Given the description of an element on the screen output the (x, y) to click on. 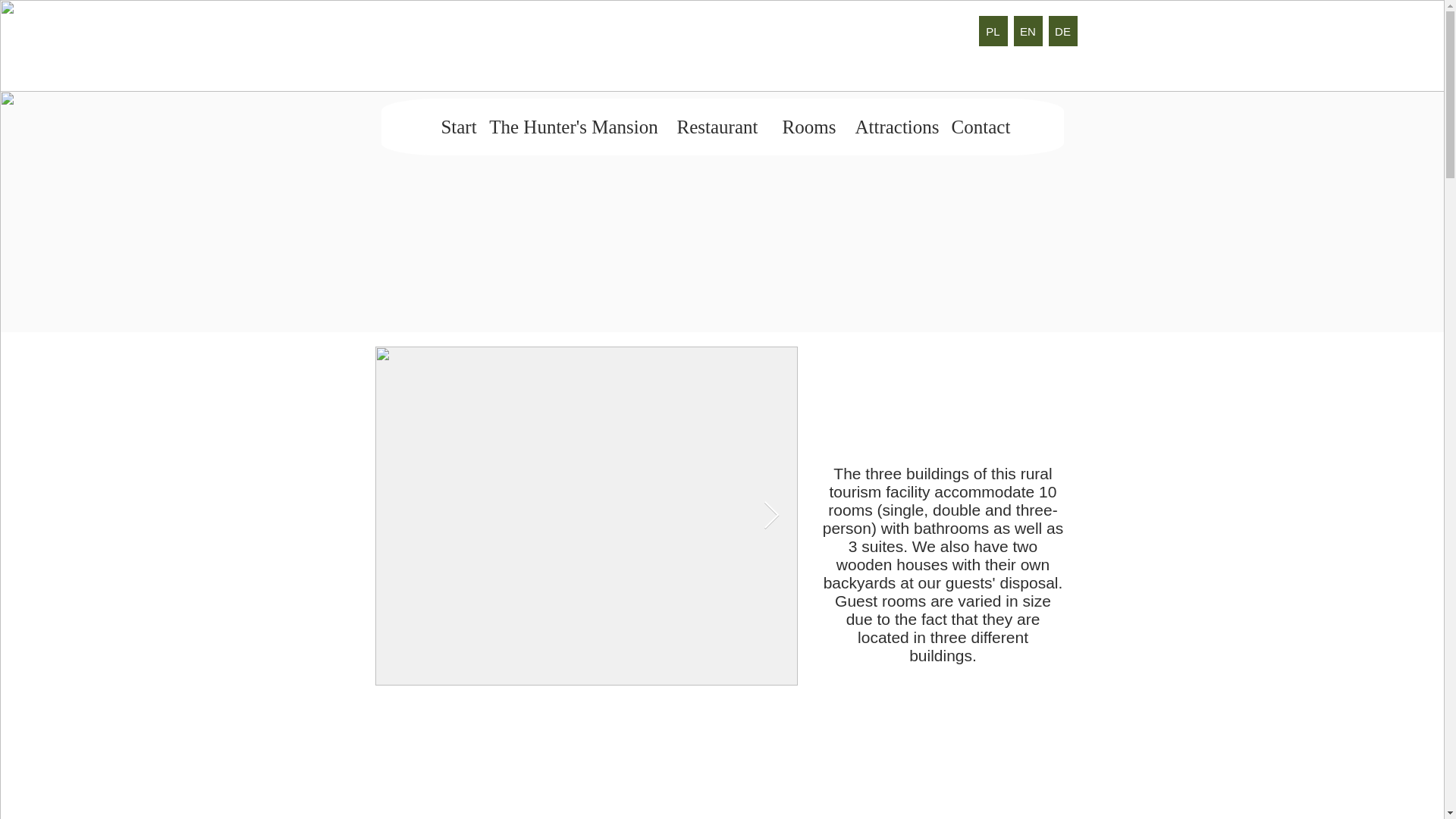
Restaurant (717, 126)
Start (459, 126)
DE (1062, 30)
Attractions (897, 126)
PL (992, 30)
Rooms (809, 126)
EN (1027, 30)
The Hunter's Mansion (572, 126)
Contact (980, 126)
